Given the description of an element on the screen output the (x, y) to click on. 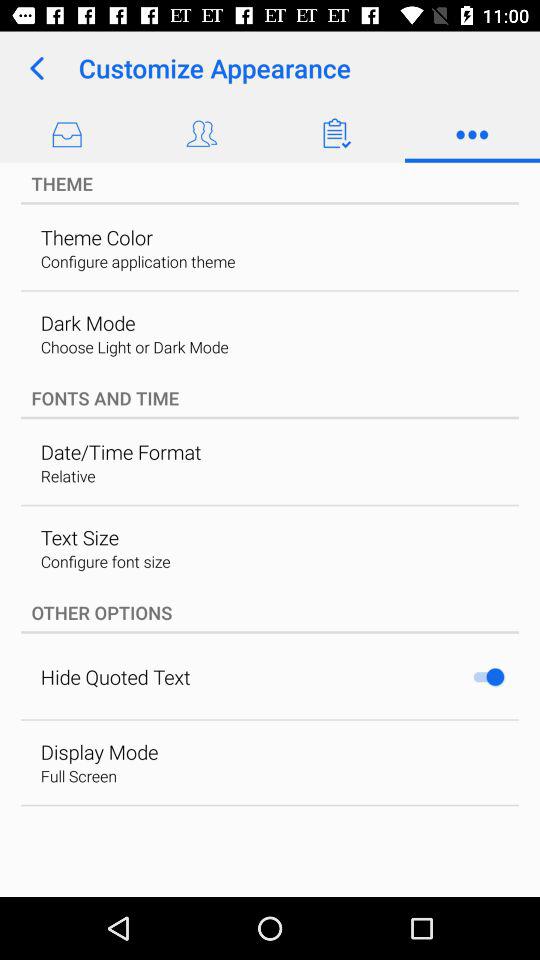
launch the icon below relative (79, 537)
